Given the description of an element on the screen output the (x, y) to click on. 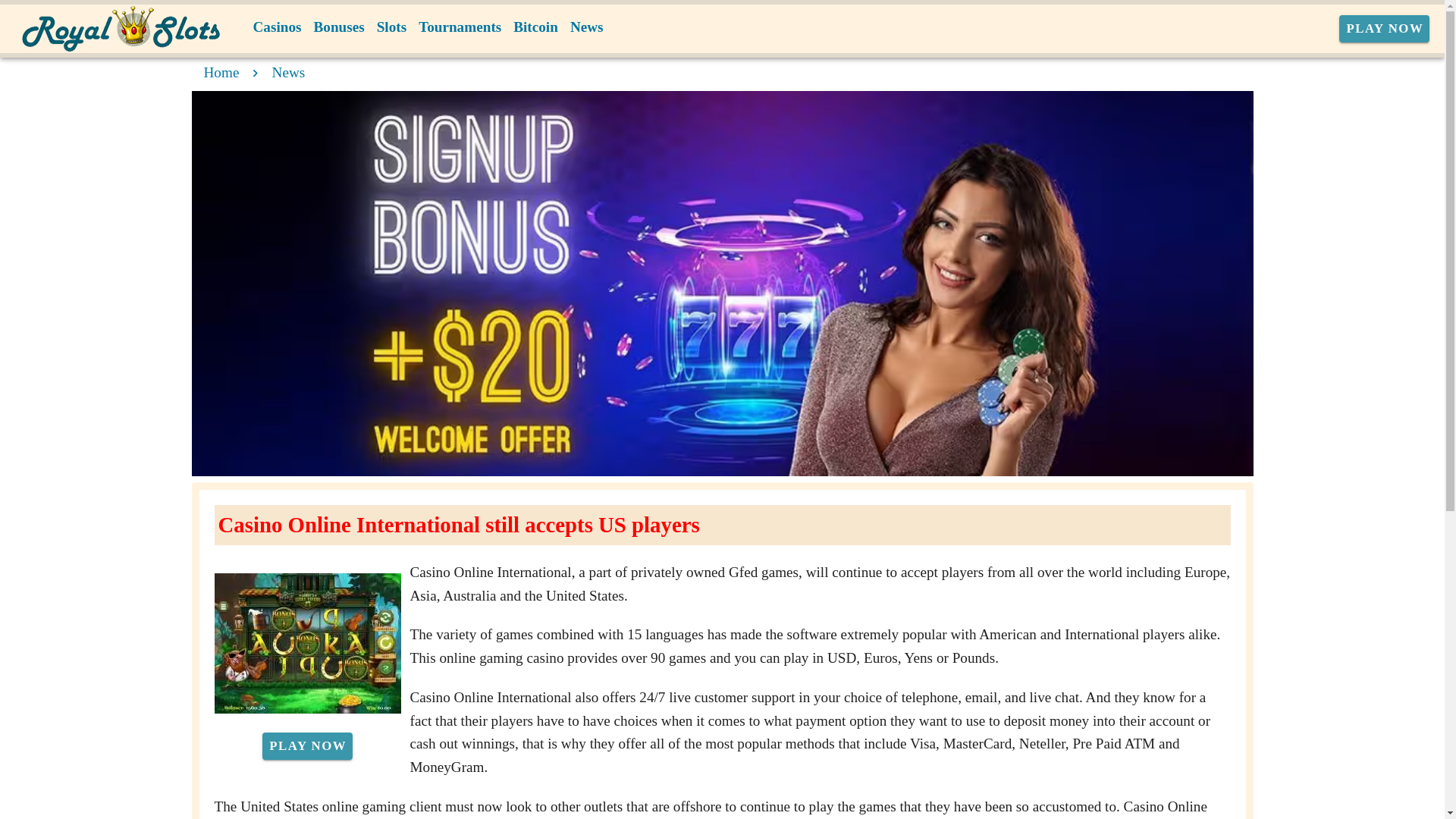
Slots (391, 27)
News (288, 72)
Tournaments (459, 27)
PLAY NOW (1384, 28)
Casinos (277, 27)
Bitcoin (535, 27)
PLAY NOW (307, 746)
News (587, 27)
Bonuses (338, 27)
Home (220, 72)
